Given the description of an element on the screen output the (x, y) to click on. 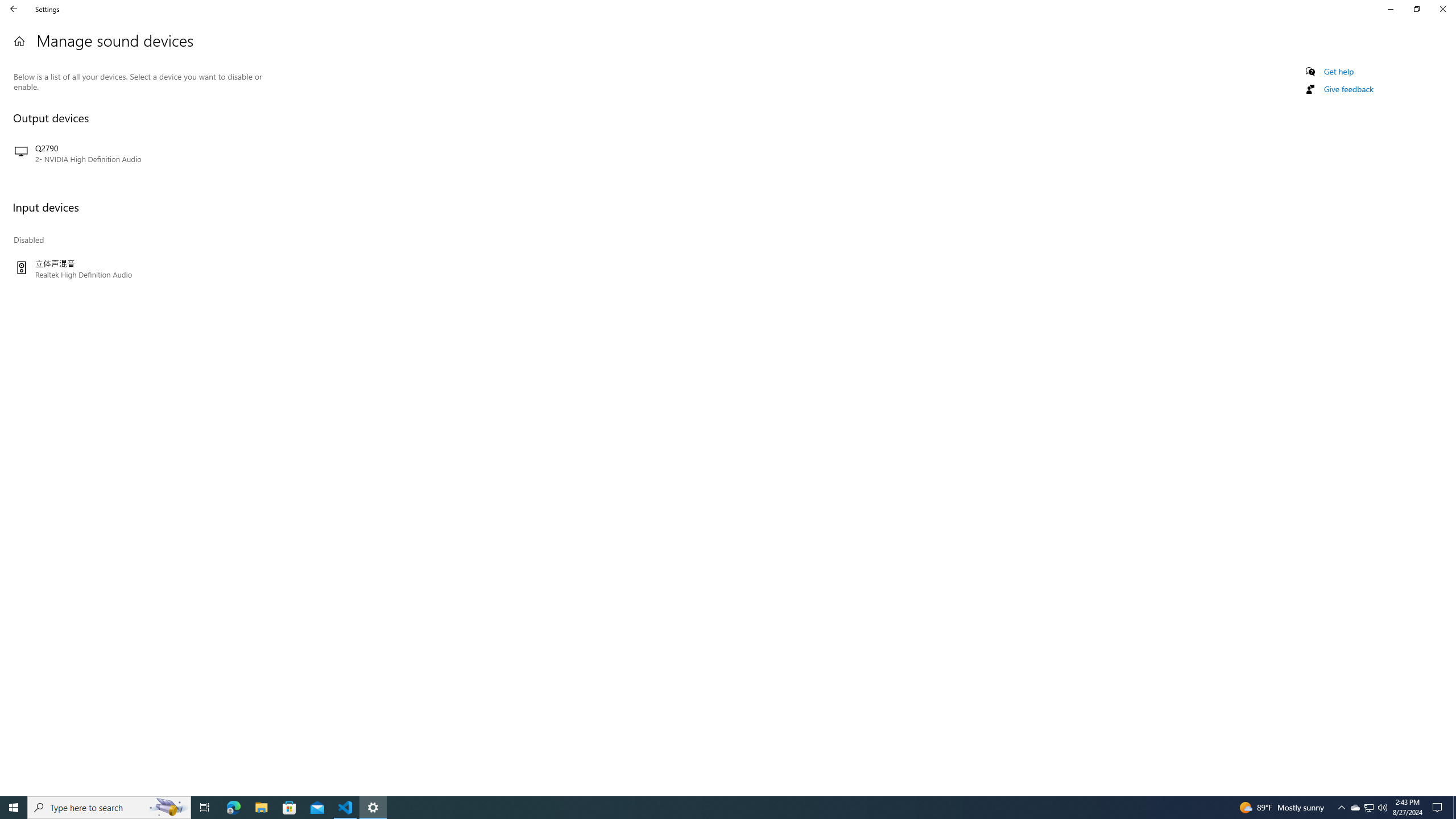
Q2790 2- NVIDIA High Definition Audio (137, 153)
Give feedback (1348, 88)
